Given the description of an element on the screen output the (x, y) to click on. 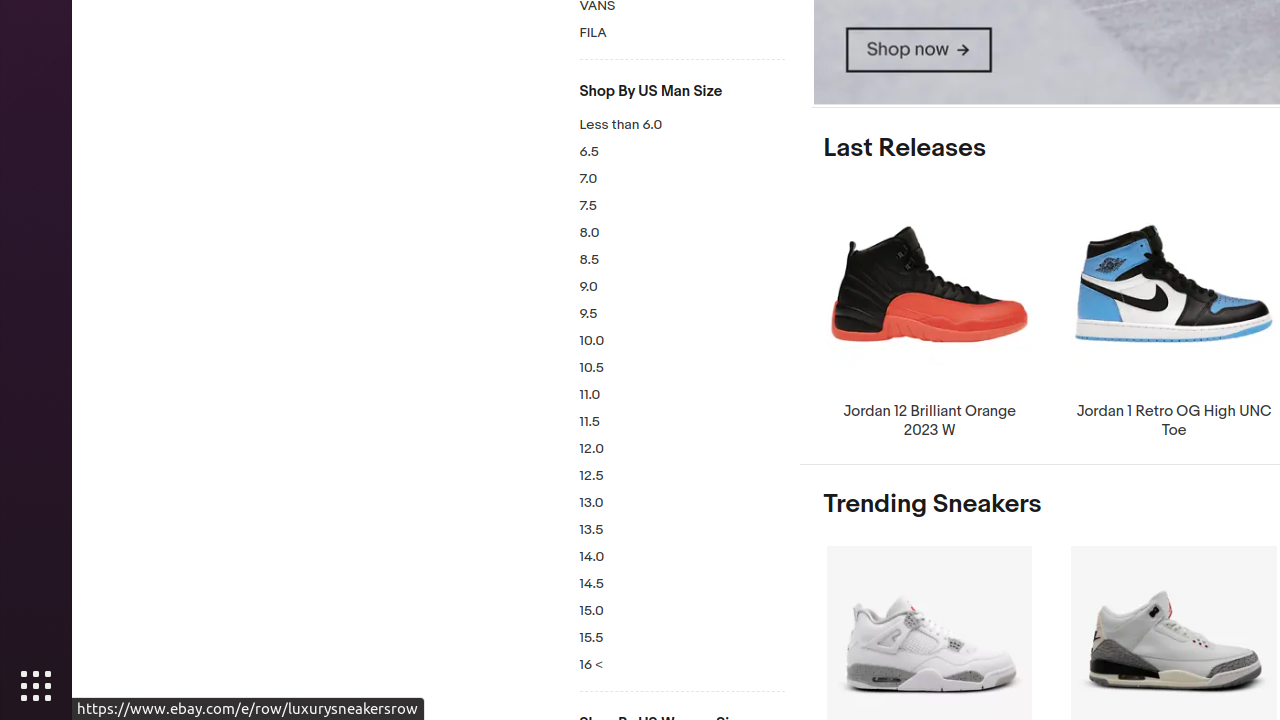
11.0 Element type: link (682, 395)
7.5 Element type: link (682, 206)
FILA Element type: link (682, 33)
14.5 Element type: link (682, 584)
Show Applications Element type: toggle-button (36, 686)
